Given the description of an element on the screen output the (x, y) to click on. 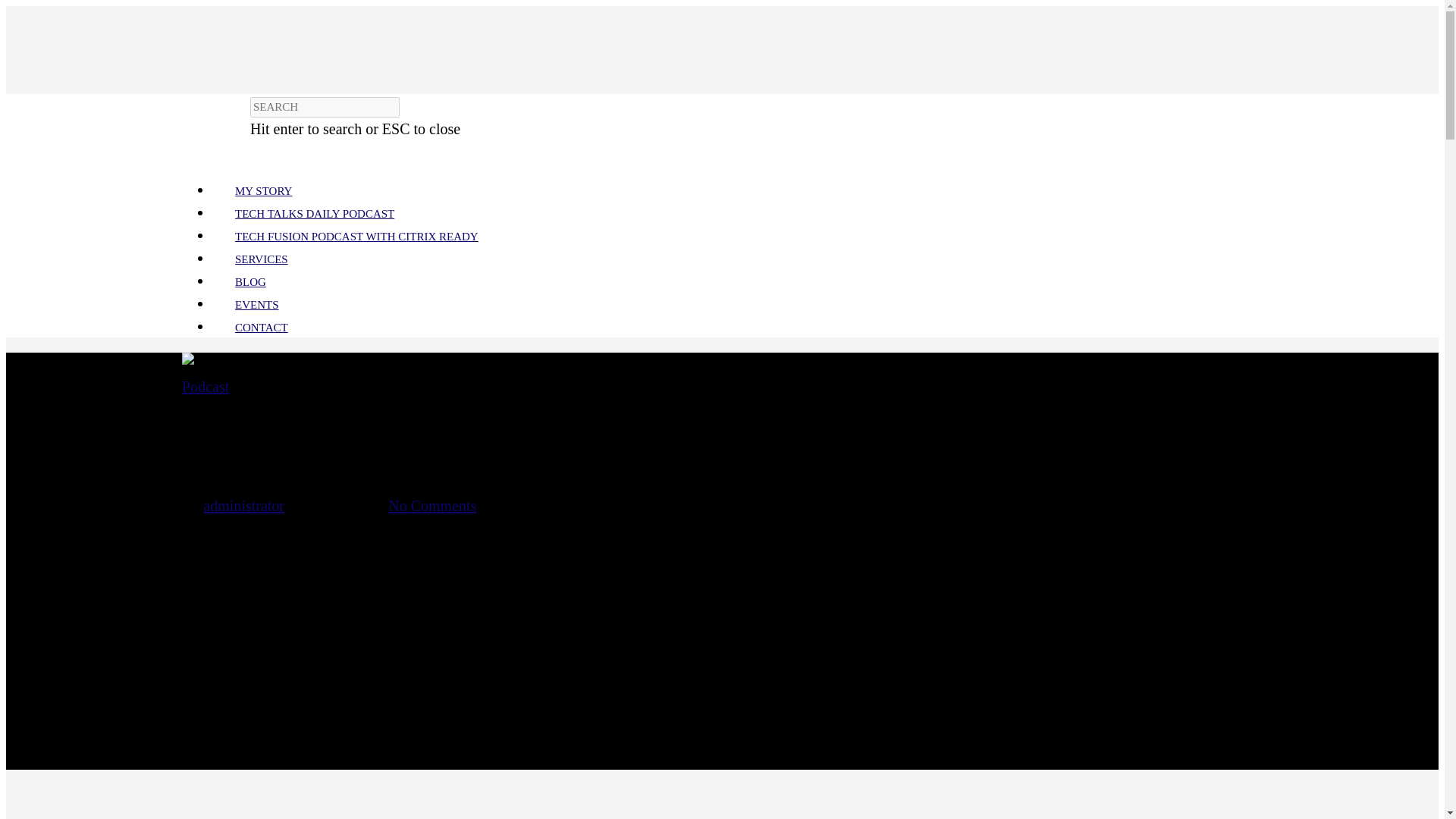
CONTACT (261, 327)
SERVICES (261, 259)
TECH FUSION PODCAST WITH CITRIX READY (356, 236)
Posts by administrator (243, 505)
EVENTS (256, 304)
MY STORY (263, 191)
TECH TALKS DAILY PODCAST (314, 214)
BLOG (250, 282)
No Comments (432, 505)
administrator (243, 505)
Embed Player (722, 801)
Podcast (205, 386)
